Given the description of an element on the screen output the (x, y) to click on. 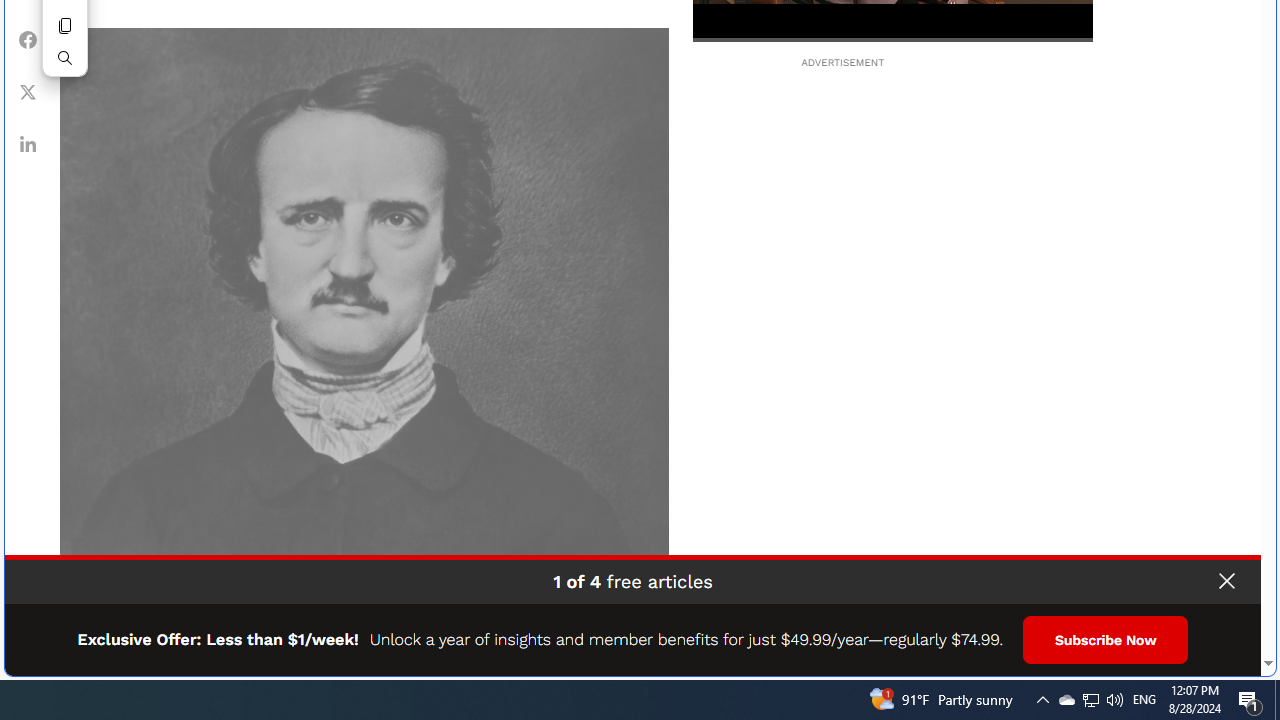
Class: close-button unbutton (1226, 581)
Terms (1242, 653)
Share Facebook (28, 39)
Class: article-sharing__item (28, 143)
User Promoted Notification Area (1090, 699)
Class: fs-icon fs-icon--xCorp (28, 91)
Share Twitter (28, 91)
Q2790: 100% (1114, 699)
Copy (65, 25)
Share Linkedin (28, 143)
